Given the description of an element on the screen output the (x, y) to click on. 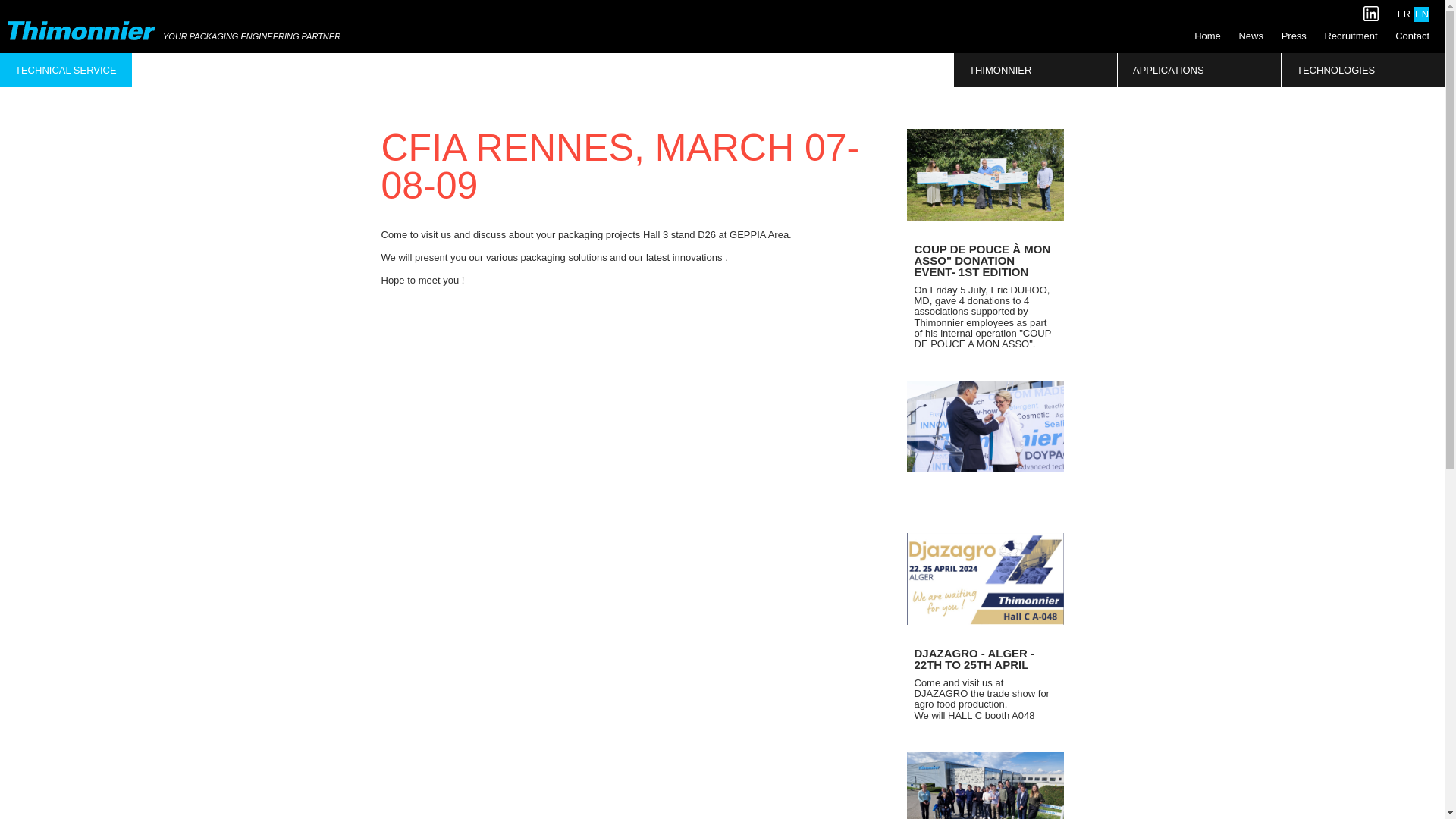
Press (1294, 35)
Thimonnier (81, 30)
Recruitment (1350, 35)
TECHNICAL SERVICE (66, 69)
APPLICATIONS (1199, 69)
FR (1403, 14)
Home (1207, 35)
News (1250, 35)
EN (1421, 14)
THIMONNIER (1034, 69)
Contact (1412, 35)
